Given the description of an element on the screen output the (x, y) to click on. 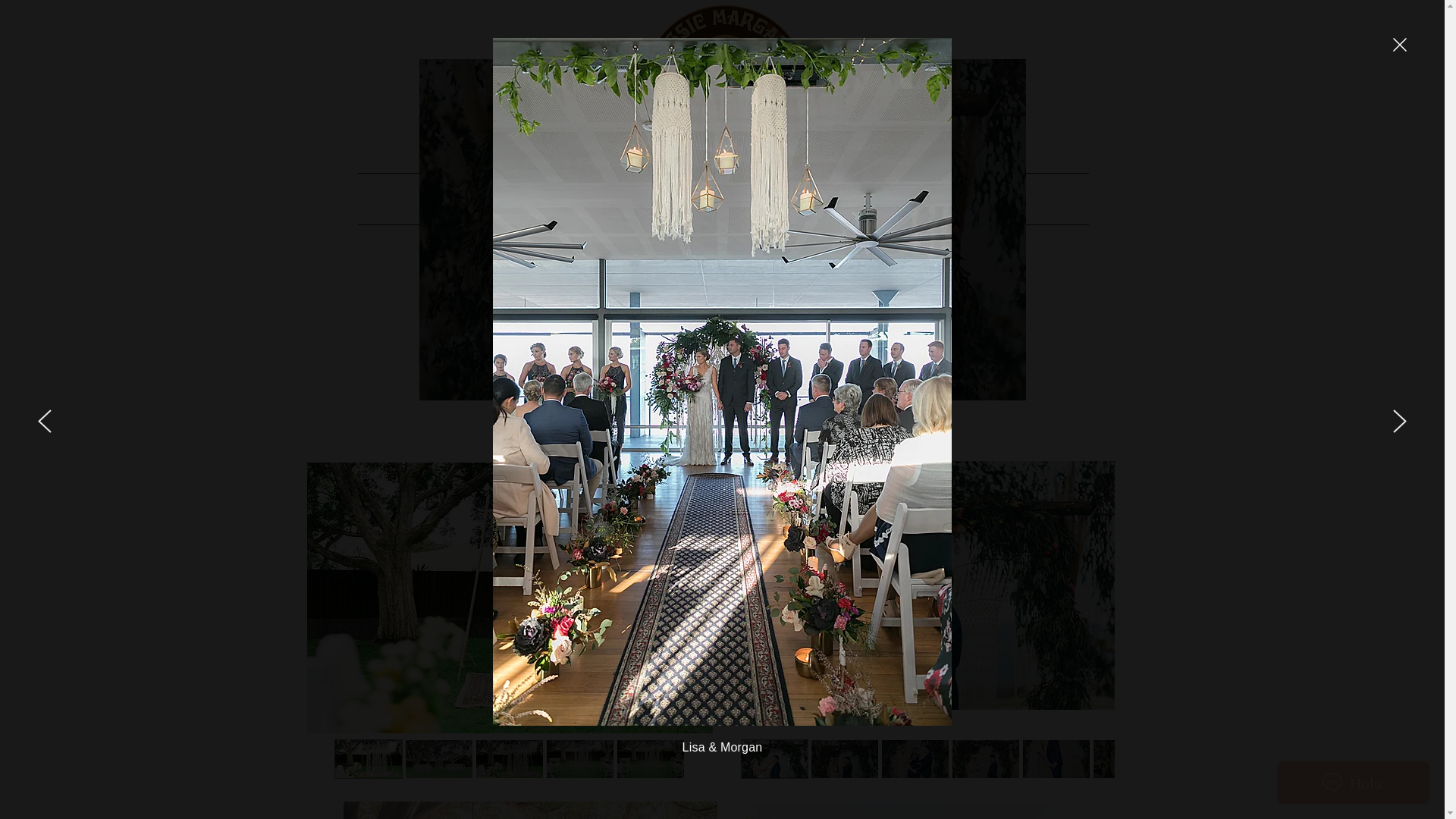
FOUNDER Element type: text (448, 197)
Contact Element type: text (996, 197)
Emilia Lorena_logo_teal.png Element type: hover (721, 86)
SHOP Element type: text (814, 197)
OUR SLINGS Element type: text (630, 197)
